Given the description of an element on the screen output the (x, y) to click on. 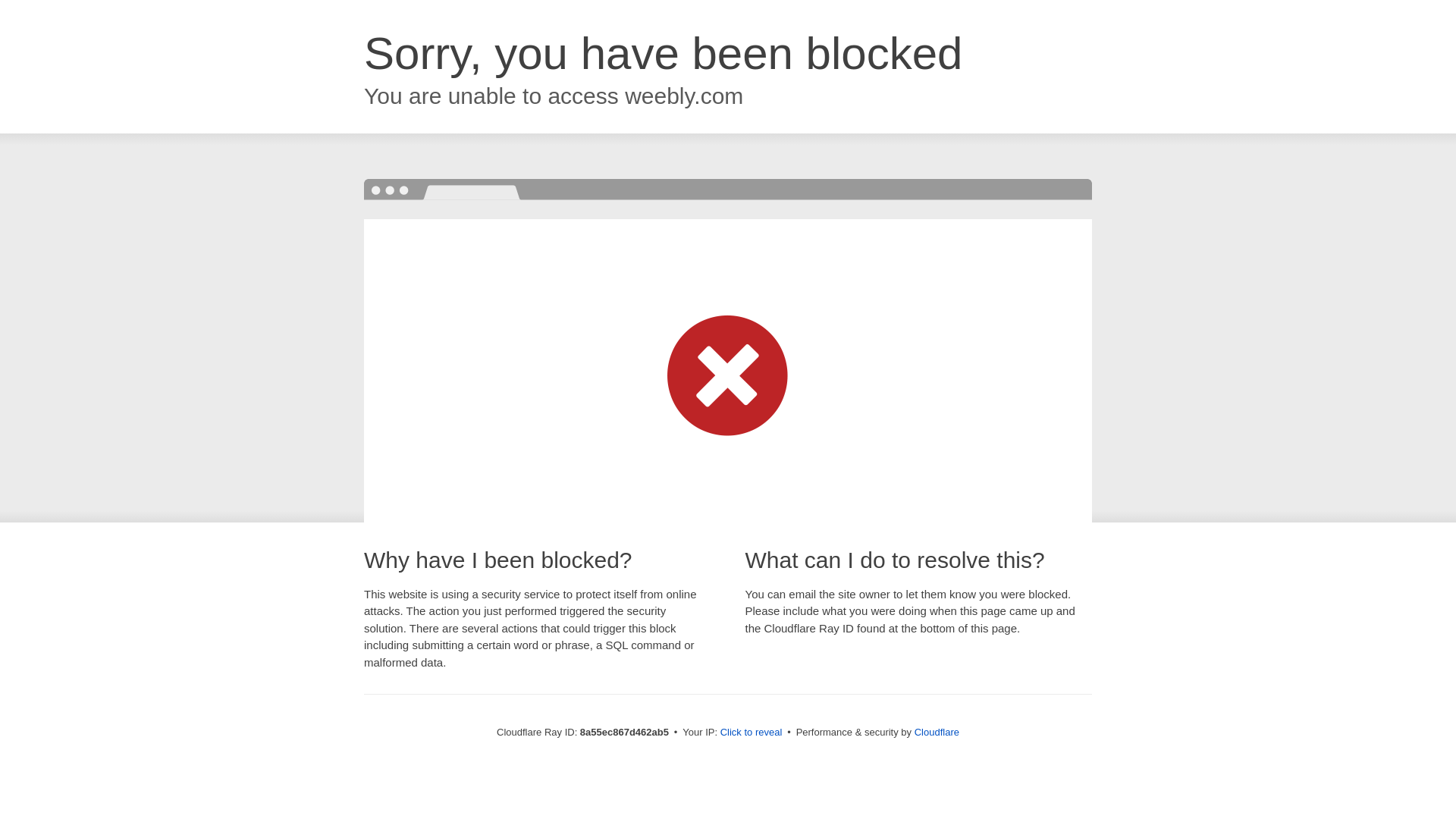
Click to reveal (751, 732)
Cloudflare (936, 731)
